Given the description of an element on the screen output the (x, y) to click on. 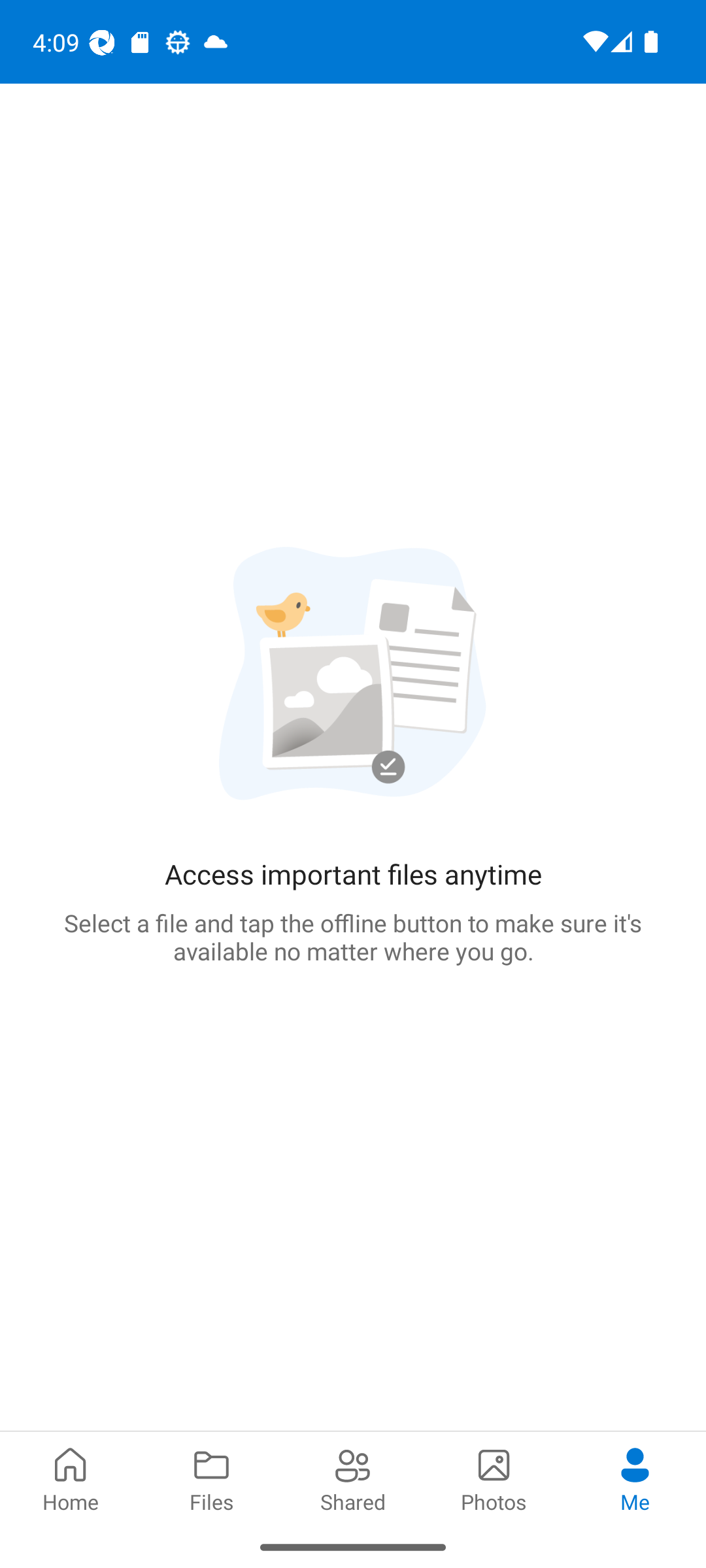
Home pivot Home (70, 1478)
Files pivot Files (211, 1478)
Shared pivot Shared (352, 1478)
Photos pivot Photos (493, 1478)
